Given the description of an element on the screen output the (x, y) to click on. 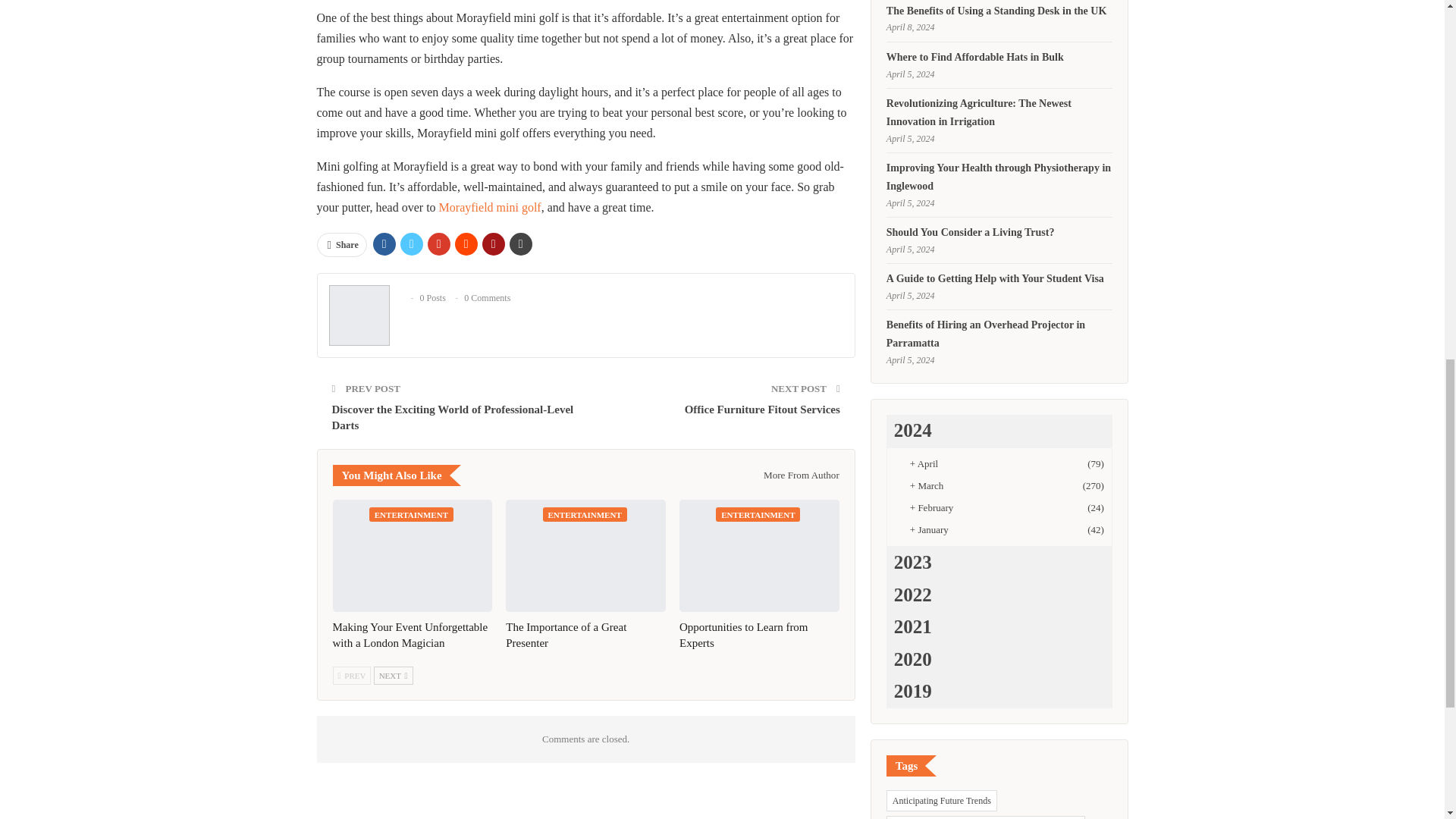
Opportunities to Learn from Experts (759, 555)
The Importance of a Great Presenter (565, 634)
Previous (351, 675)
Making Your Event Unforgettable with a London Magician (411, 555)
The Importance of a Great Presenter (585, 555)
Making Your Event Unforgettable with a London Magician (409, 634)
Next (393, 675)
Opportunities to Learn from Experts (743, 634)
Morayfield mini golf (490, 206)
